Given the description of an element on the screen output the (x, y) to click on. 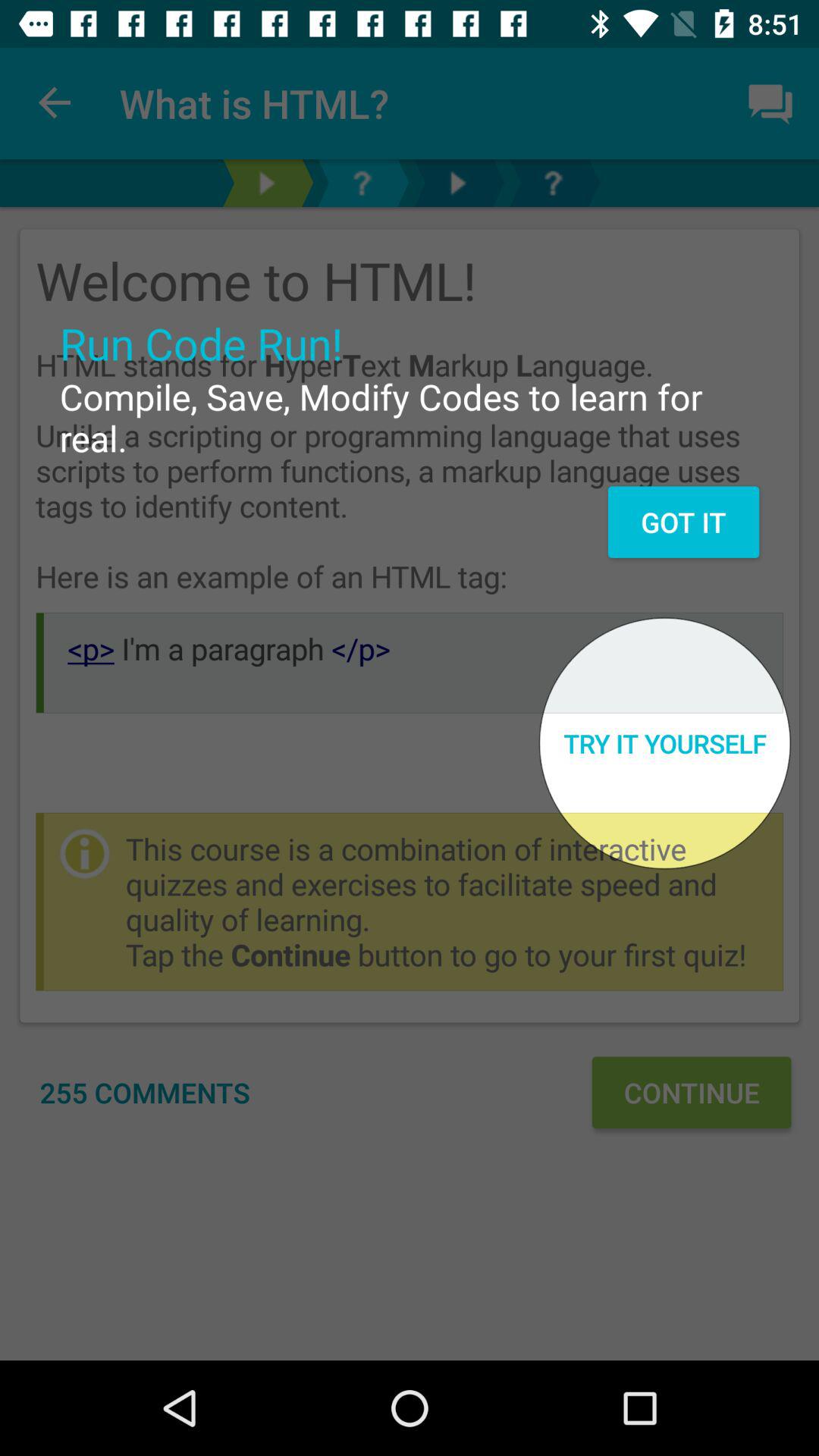
next (457, 183)
